Given the description of an element on the screen output the (x, y) to click on. 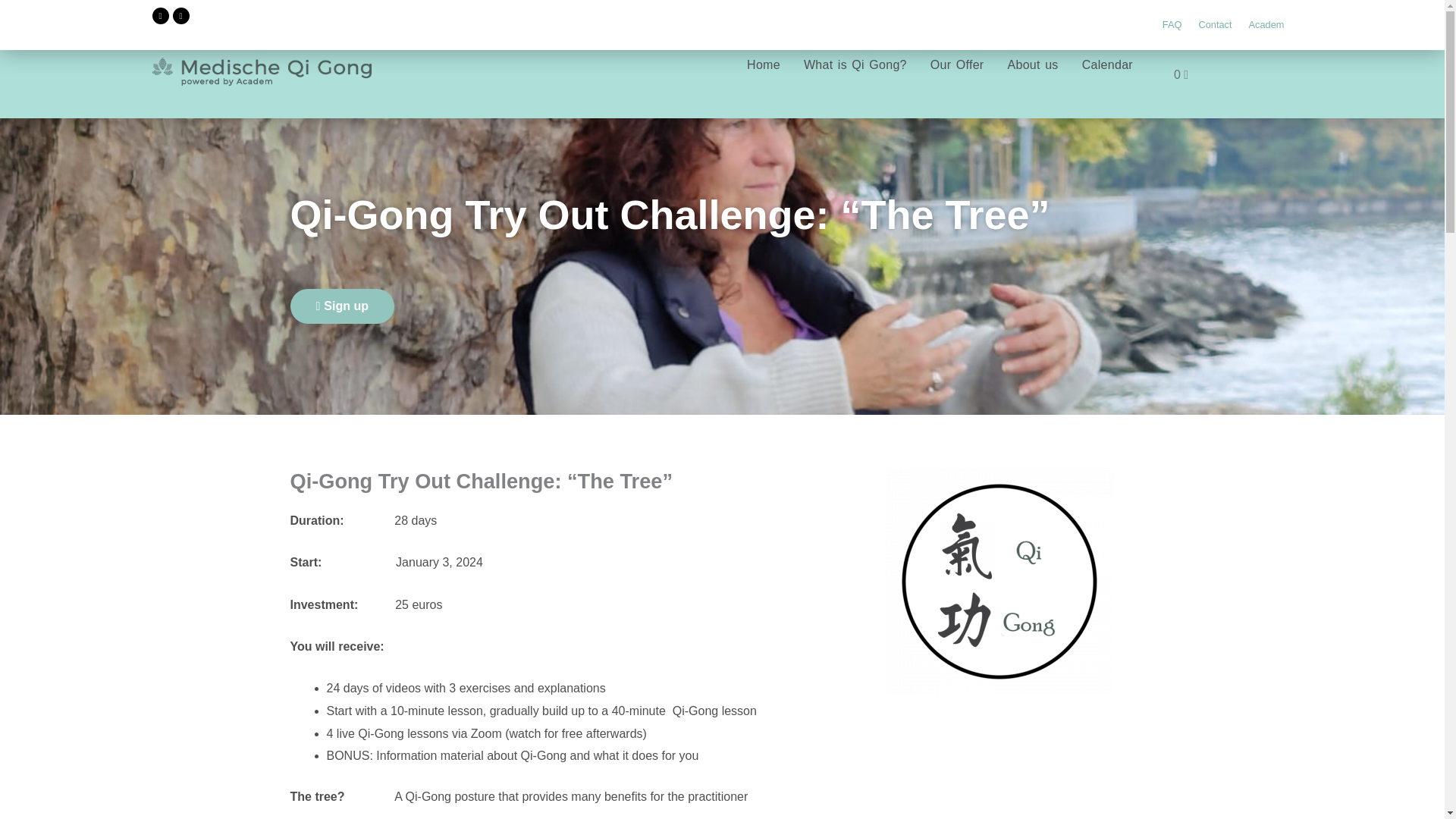
Our Offer (957, 64)
FAQ (1172, 24)
What is Qi Gong? (855, 64)
Contact (1214, 24)
Sign up (341, 306)
Academ (1266, 24)
Home (763, 64)
Calendar (1106, 64)
About us (1032, 64)
0 (1181, 74)
